Given the description of an element on the screen output the (x, y) to click on. 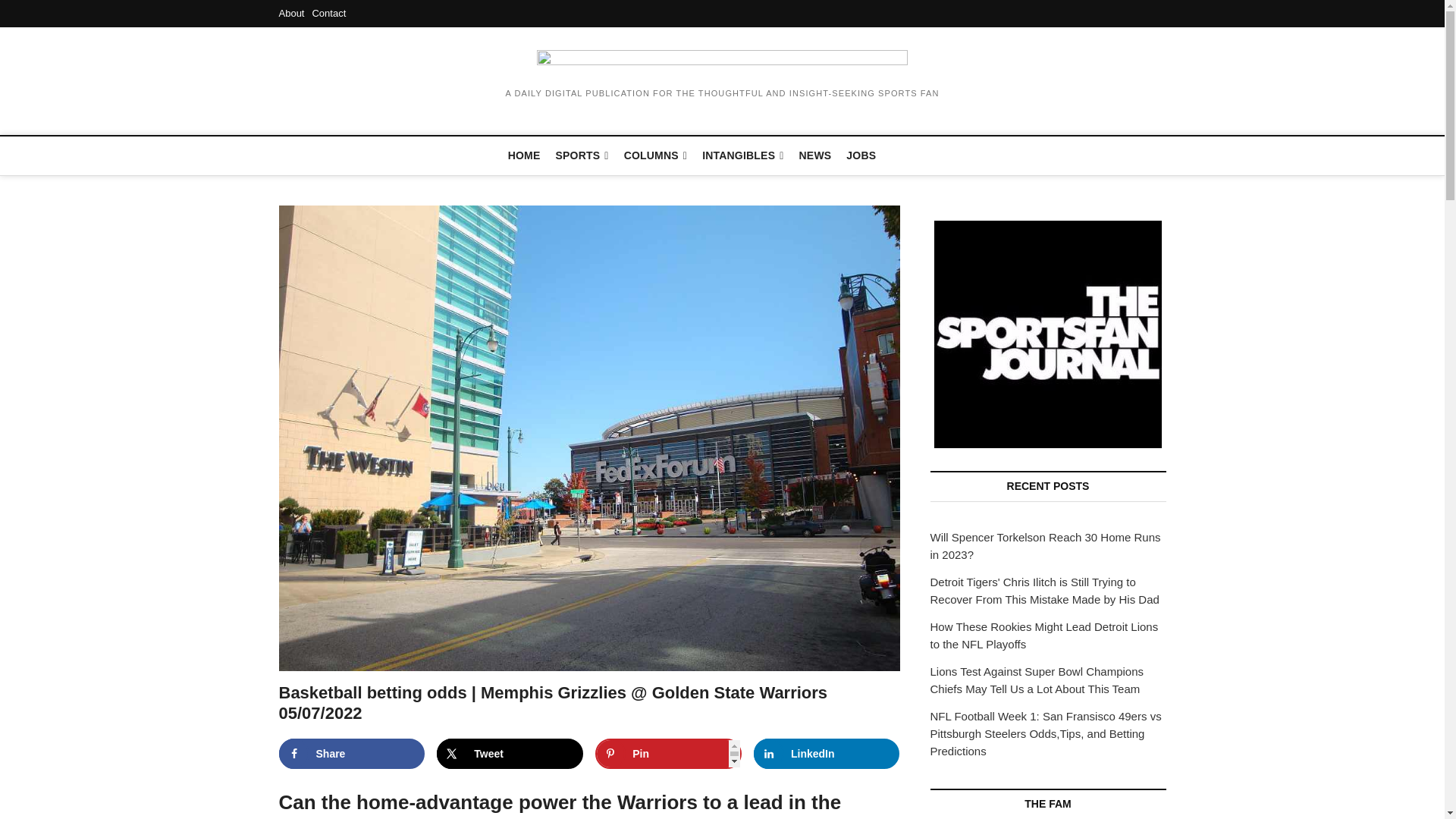
Contact (328, 12)
Share (352, 753)
HOME (524, 155)
About (291, 12)
JOBS (860, 155)
INTANGIBLES (742, 155)
Share on X (509, 753)
Share on LinkedIn (826, 753)
SPORTS (581, 155)
Tweet (509, 753)
